Given the description of an element on the screen output the (x, y) to click on. 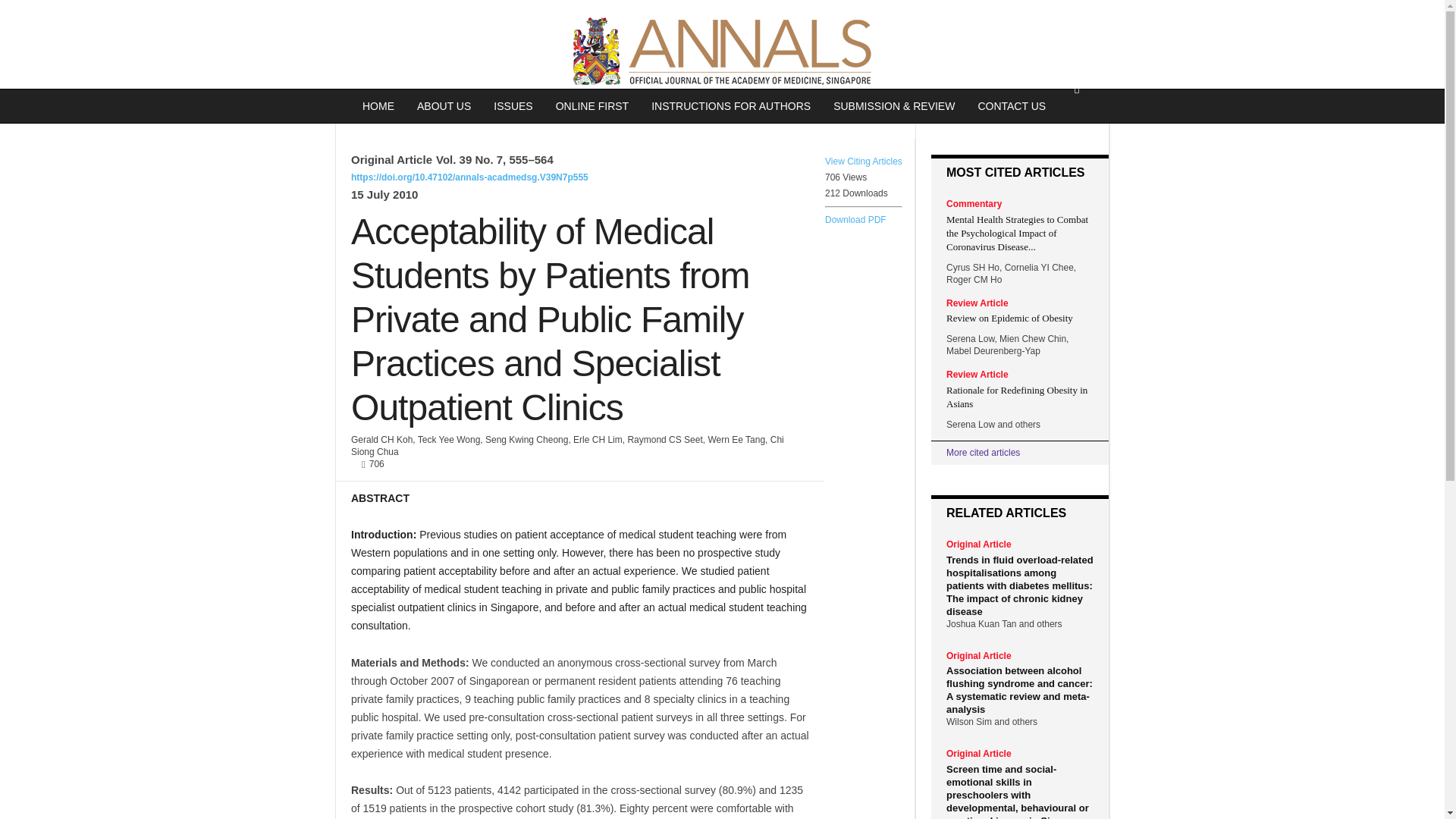
INSTRUCTIONS FOR AUTHORS (731, 105)
ISSUES (512, 105)
ABOUT US (443, 105)
Annals Singapore (721, 51)
HOME (378, 105)
ONLINE FIRST (592, 105)
